Given the description of an element on the screen output the (x, y) to click on. 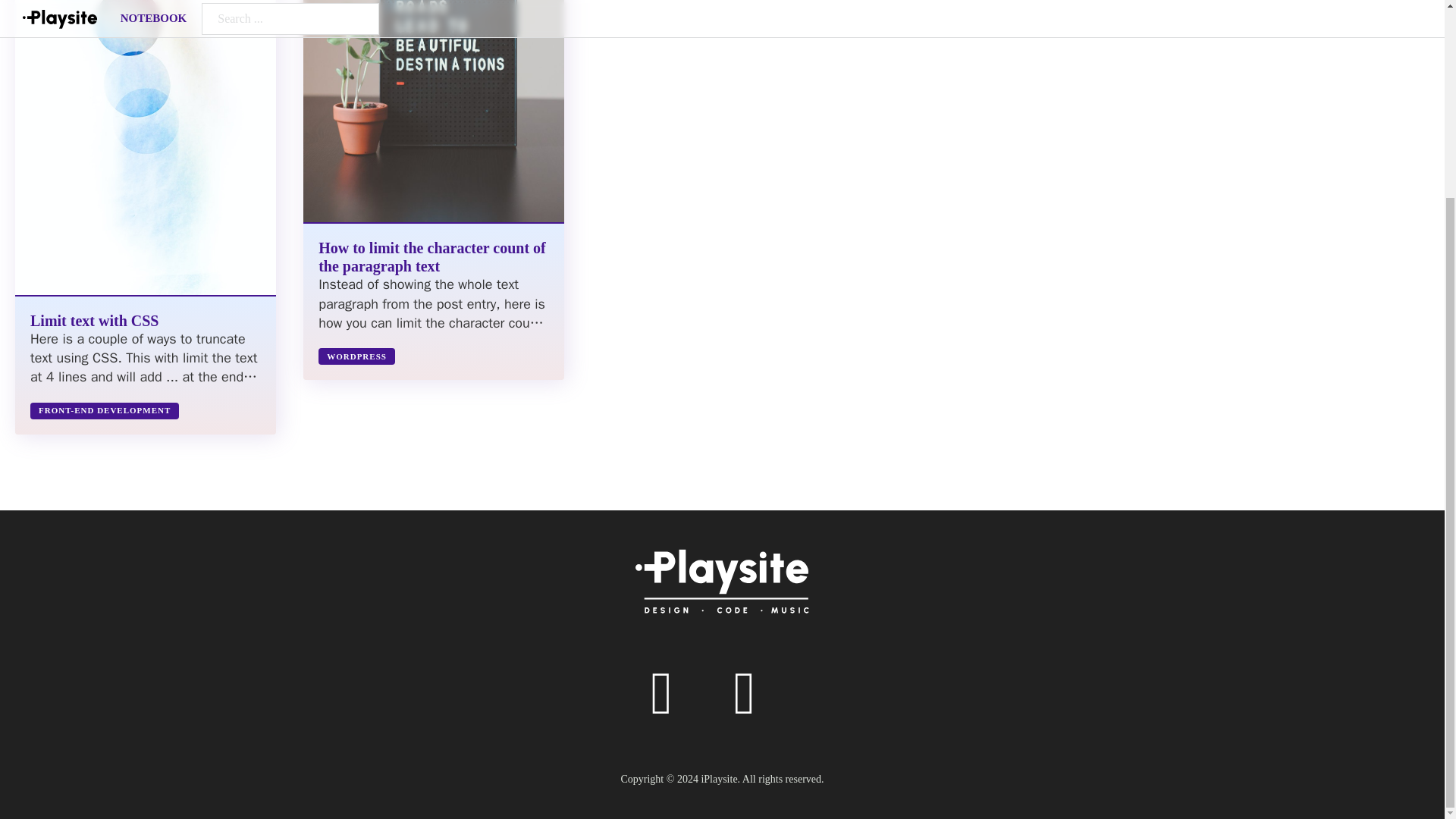
FRONT-END DEVELOPMENT (104, 410)
Limit text with CSS (94, 320)
How to limit the character count of the paragraph text (432, 256)
WORDPRESS (356, 356)
